Given the description of an element on the screen output the (x, y) to click on. 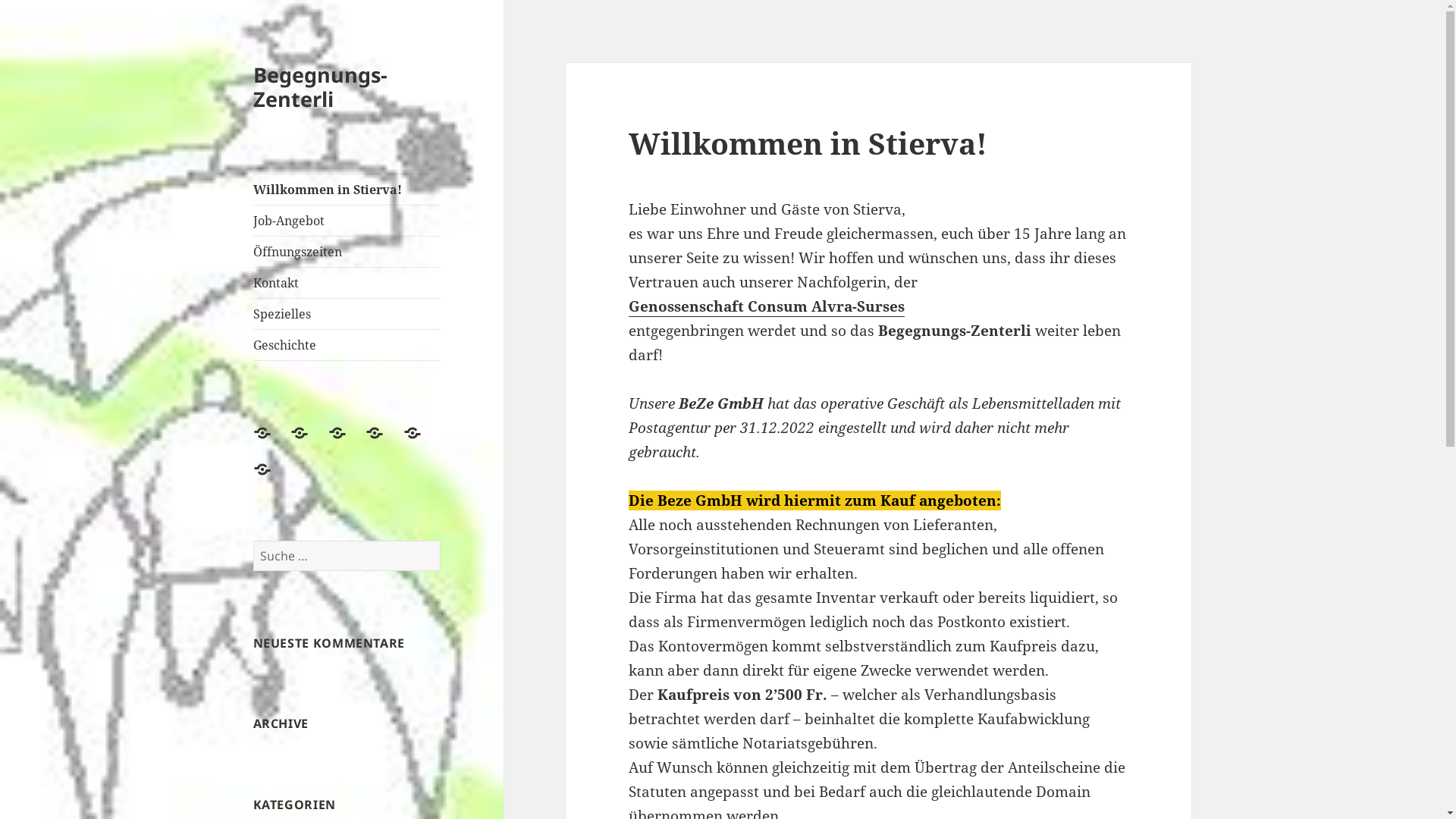
Kontakt Element type: text (383, 441)
Willkommen in Stierva! Element type: text (271, 441)
Spezielles Element type: text (347, 313)
Willkommen in Stierva! Element type: text (347, 189)
Geschichte Element type: text (271, 478)
Job-Angebot Element type: text (347, 220)
Geschichte Element type: text (347, 344)
Suche Element type: text (439, 539)
Genossenschaft Consum Alvra-Surses Element type: text (766, 306)
Kontakt Element type: text (347, 282)
Spezielles Element type: text (421, 441)
Job-Angebot Element type: text (308, 441)
Begegnungs-Zenterli Element type: text (320, 86)
